Given the description of an element on the screen output the (x, y) to click on. 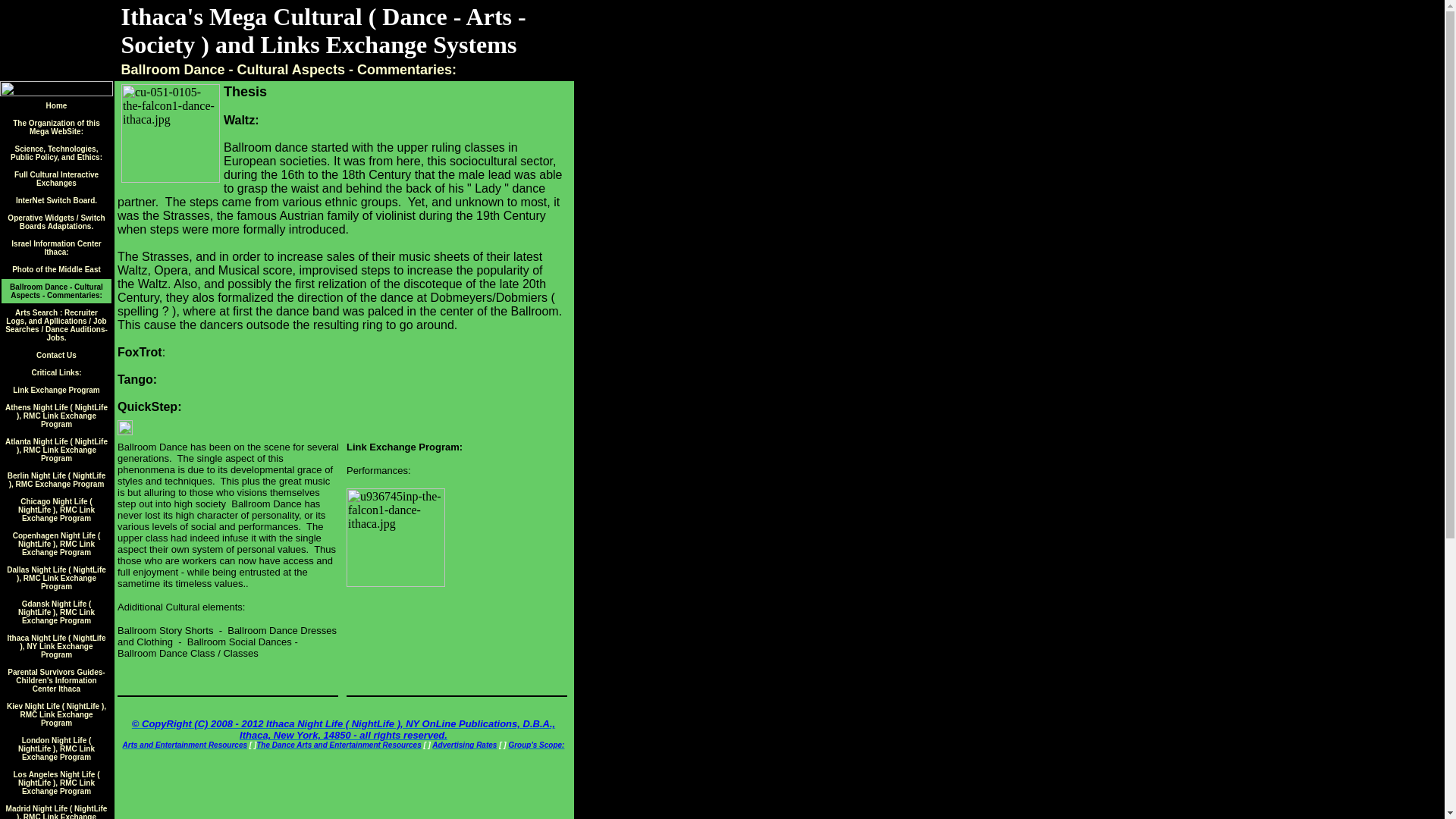
Full Cultural Interactive Exchanges (56, 177)
The Organization of this Mega WebSite: (56, 125)
Contact Us (56, 353)
Arts and Entertainment Resources (184, 745)
Photo of the Middle East (55, 267)
Science, Technologies, Public Policy, and Ethics: (55, 151)
Israel Information Center Ithaca: (55, 246)
Ballroom Dance - Cultural Aspects - Commentaries: (56, 289)
Home (56, 103)
